Given the description of an element on the screen output the (x, y) to click on. 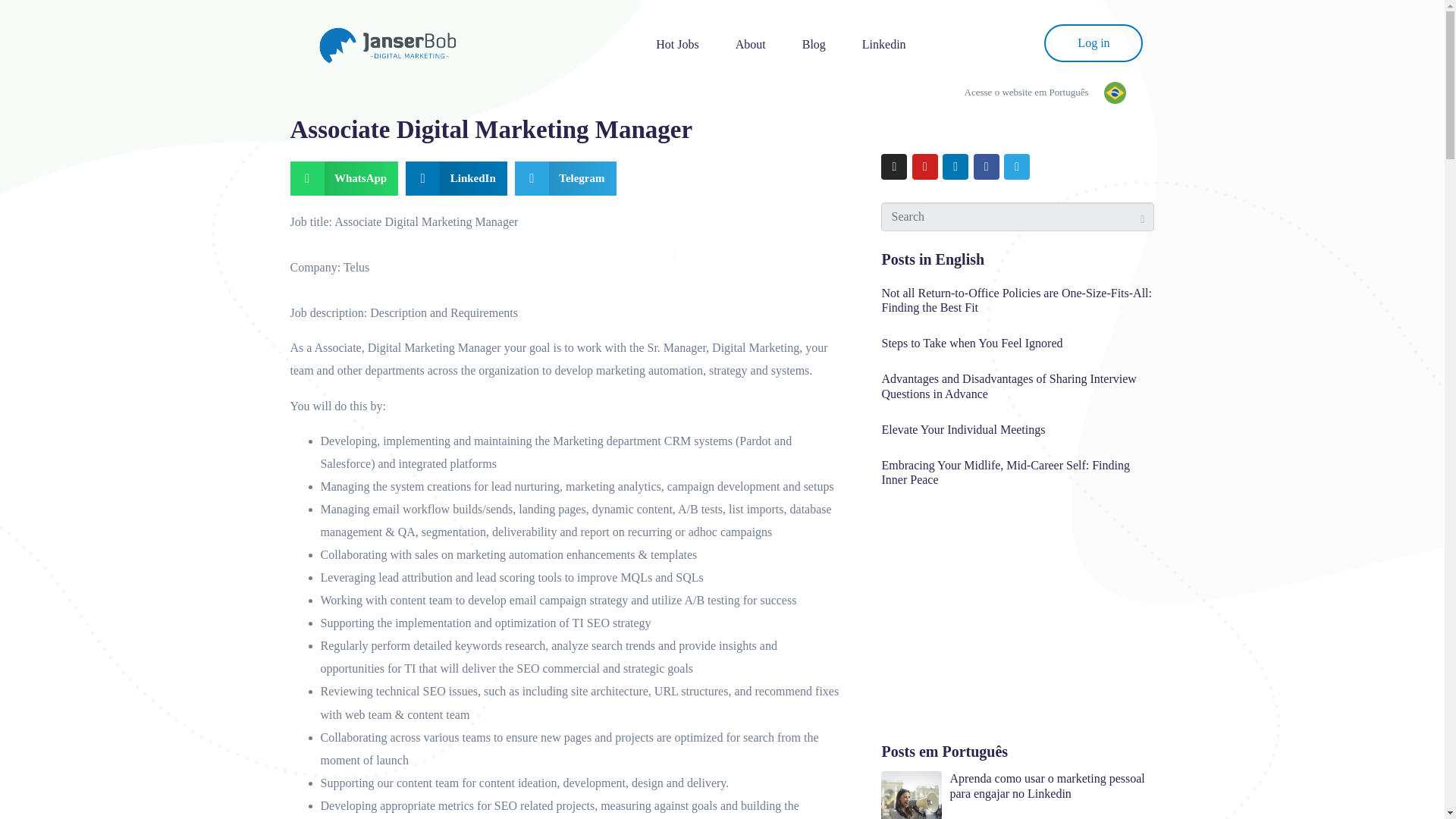
Linkedin (884, 44)
Log in (1092, 43)
About (750, 44)
Elevate Your Individual Meetings (962, 429)
Hot Jobs (676, 44)
Embracing Your Midlife, Mid-Career Self: Finding Inner Peace (1004, 472)
Steps to Take when You Feel Ignored (971, 342)
